Given the description of an element on the screen output the (x, y) to click on. 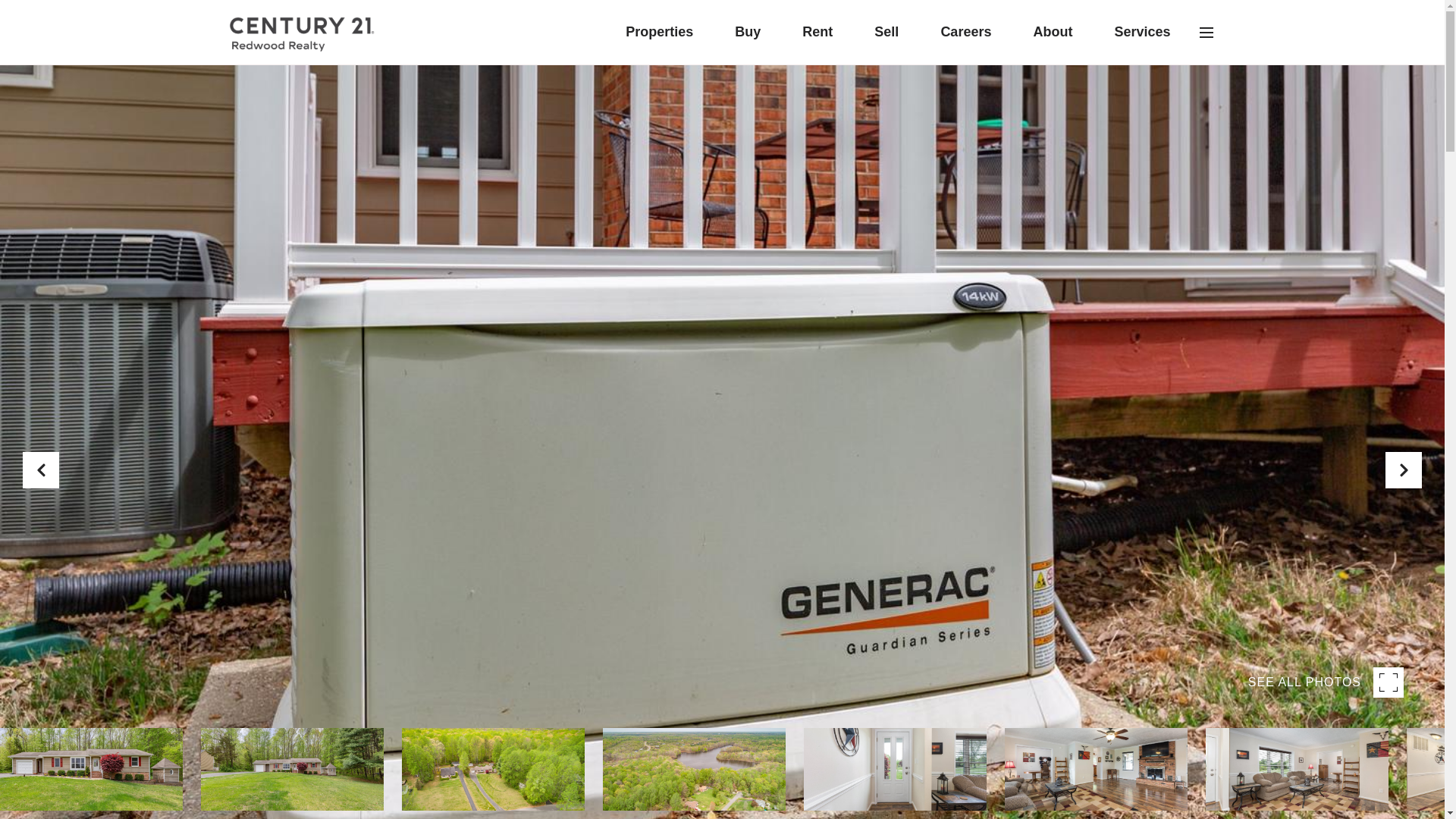
Careers (965, 32)
